Given the description of an element on the screen output the (x, y) to click on. 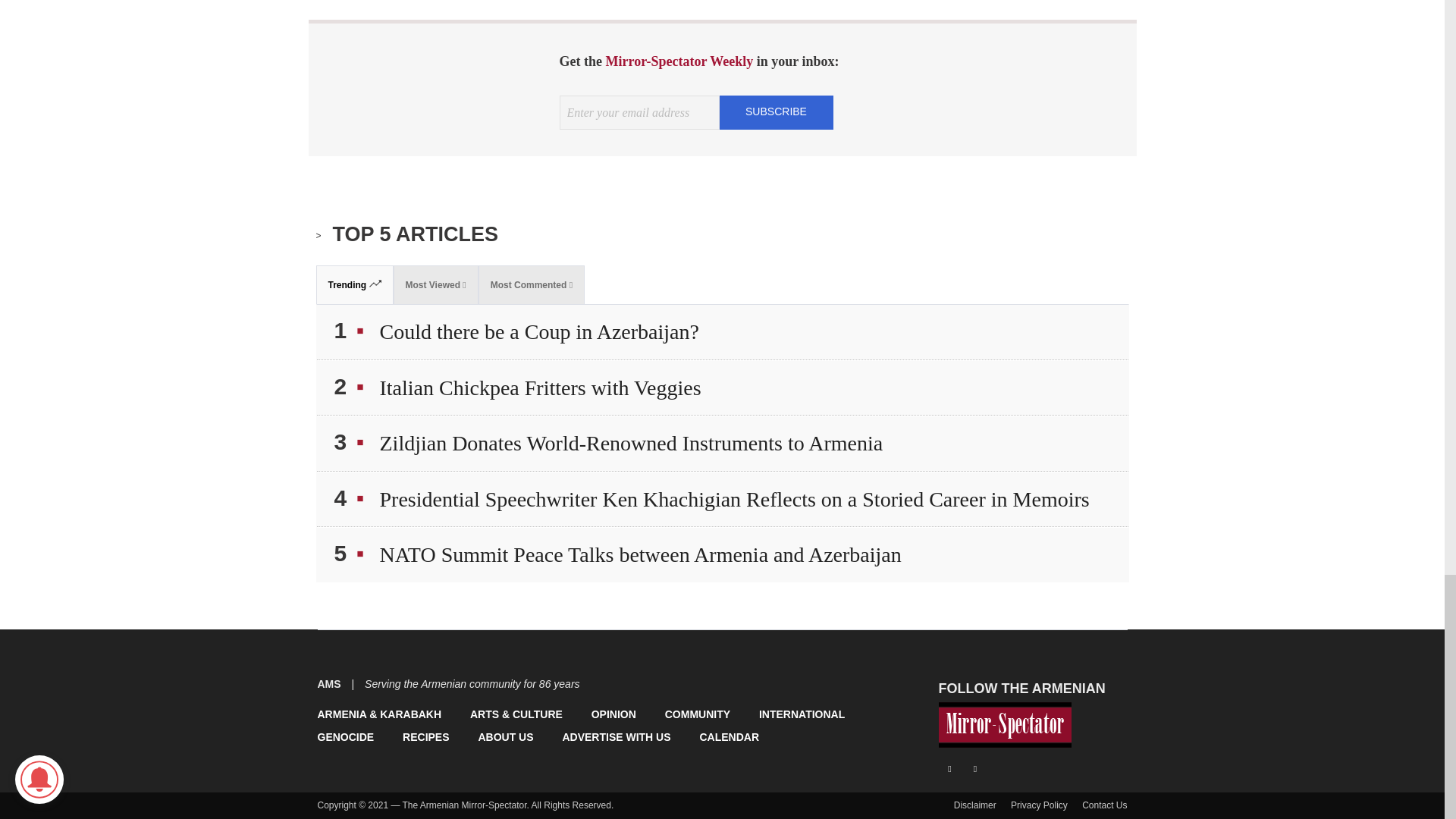
SUBSCRIBE (775, 111)
